Given the description of an element on the screen output the (x, y) to click on. 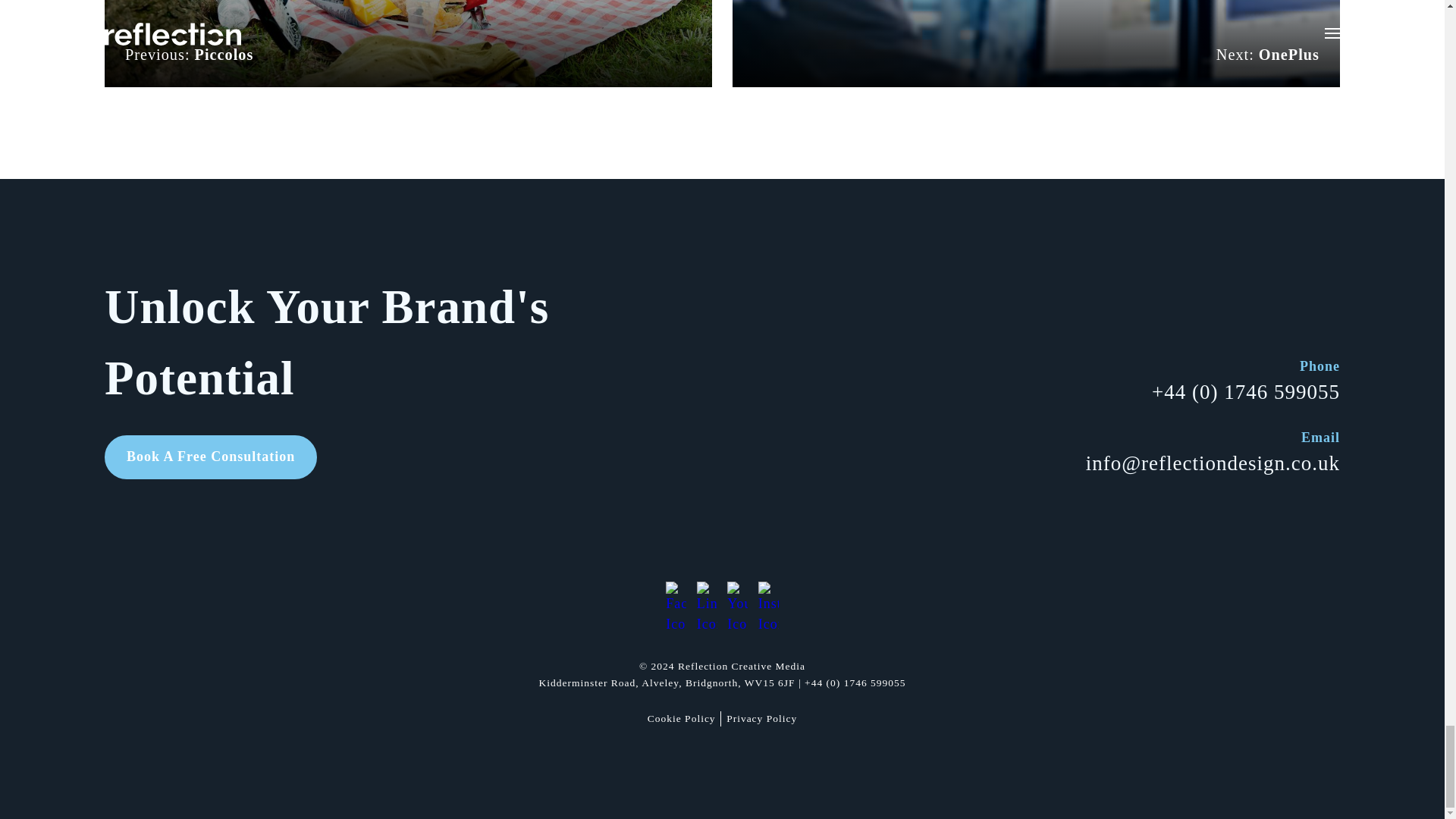
Privacy Policy (761, 718)
Cookie Policy (681, 718)
Previous: Piccolos (407, 43)
Book A Free Consultation (210, 456)
Next: OnePlus (1035, 43)
